Given the description of an element on the screen output the (x, y) to click on. 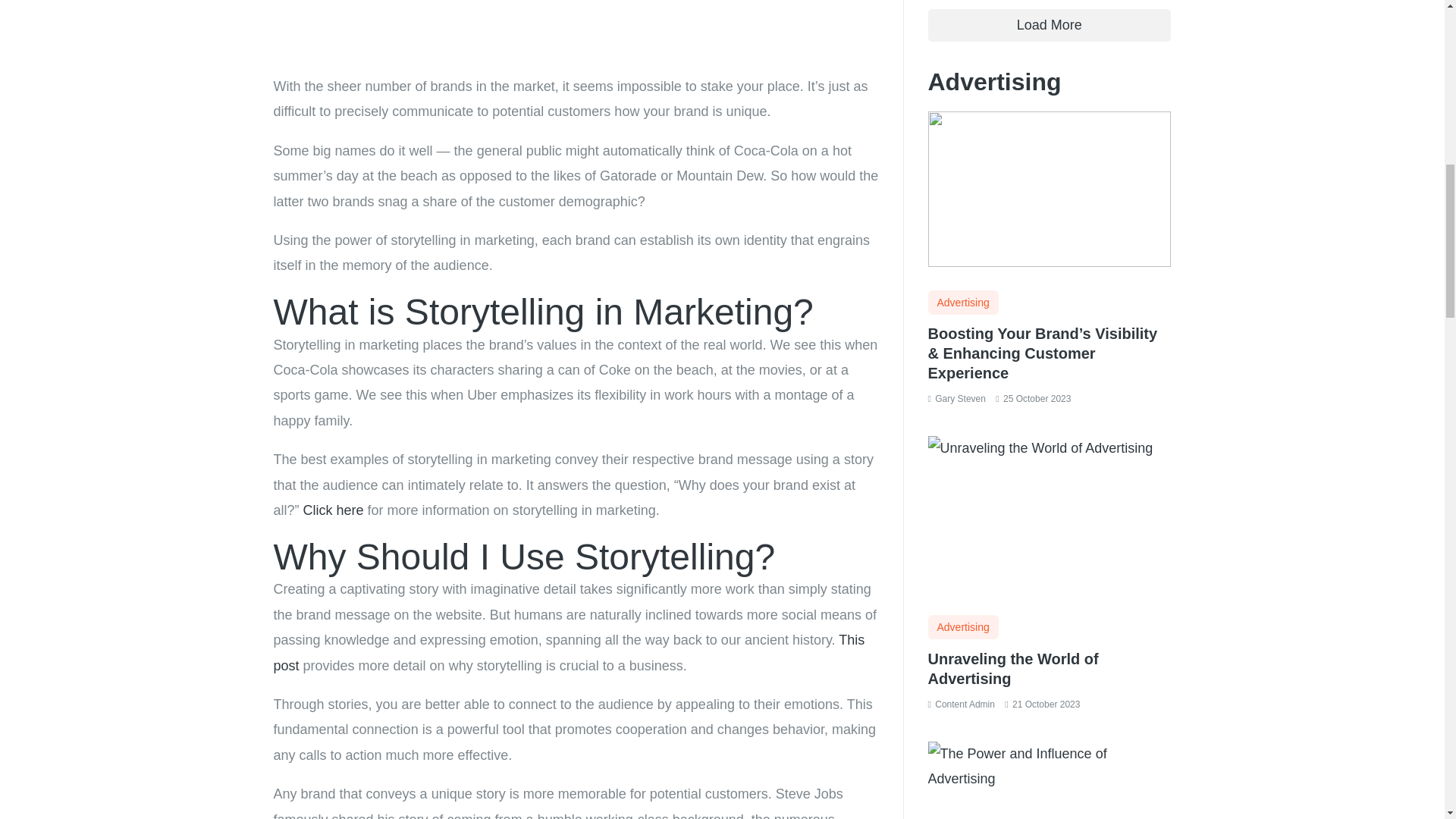
Posts by Content Admin (964, 704)
Posts by Gary Steven (959, 398)
Click here (333, 509)
This post (568, 652)
